Given the description of an element on the screen output the (x, y) to click on. 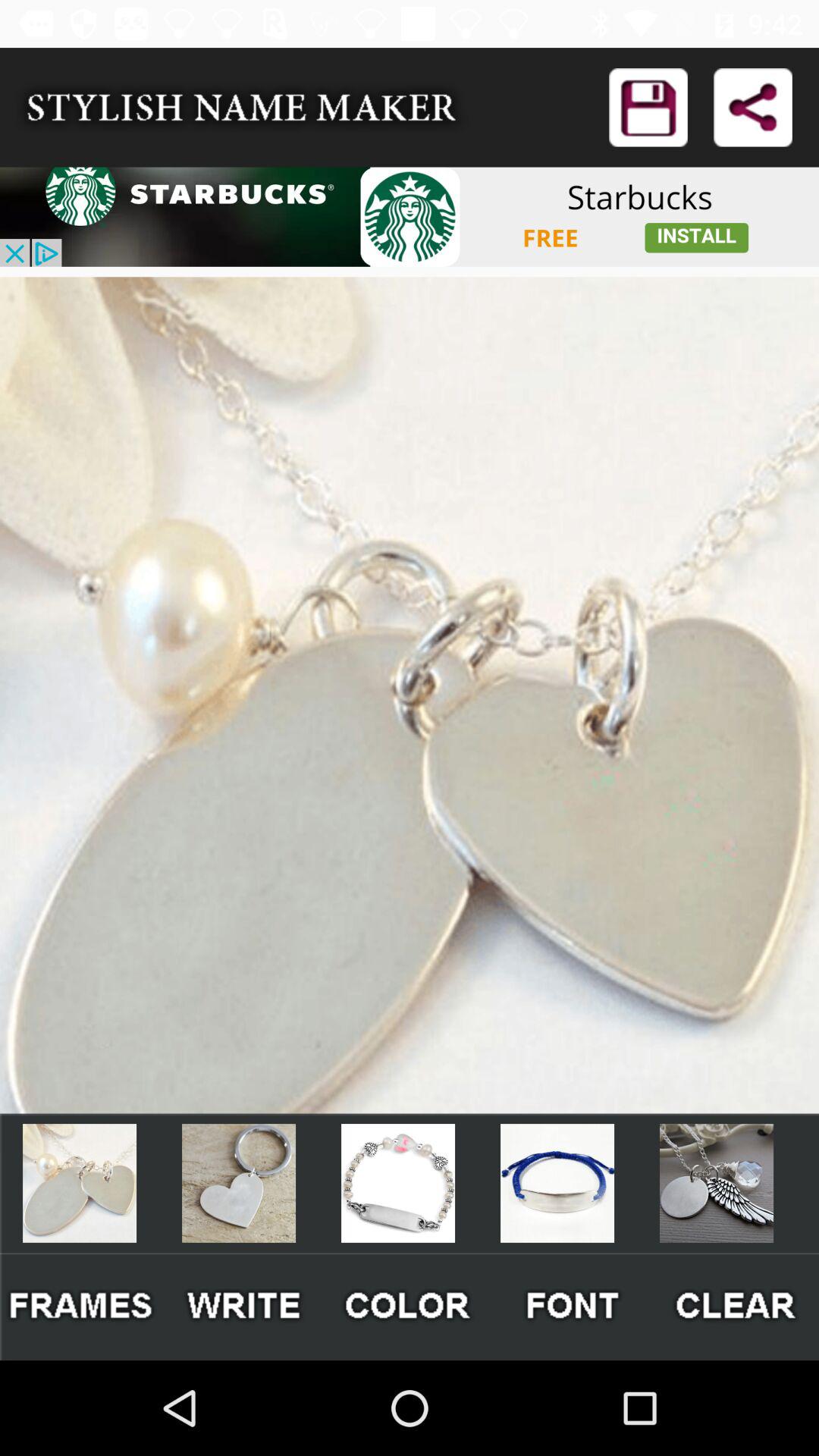
click frames (81, 1306)
